Given the description of an element on the screen output the (x, y) to click on. 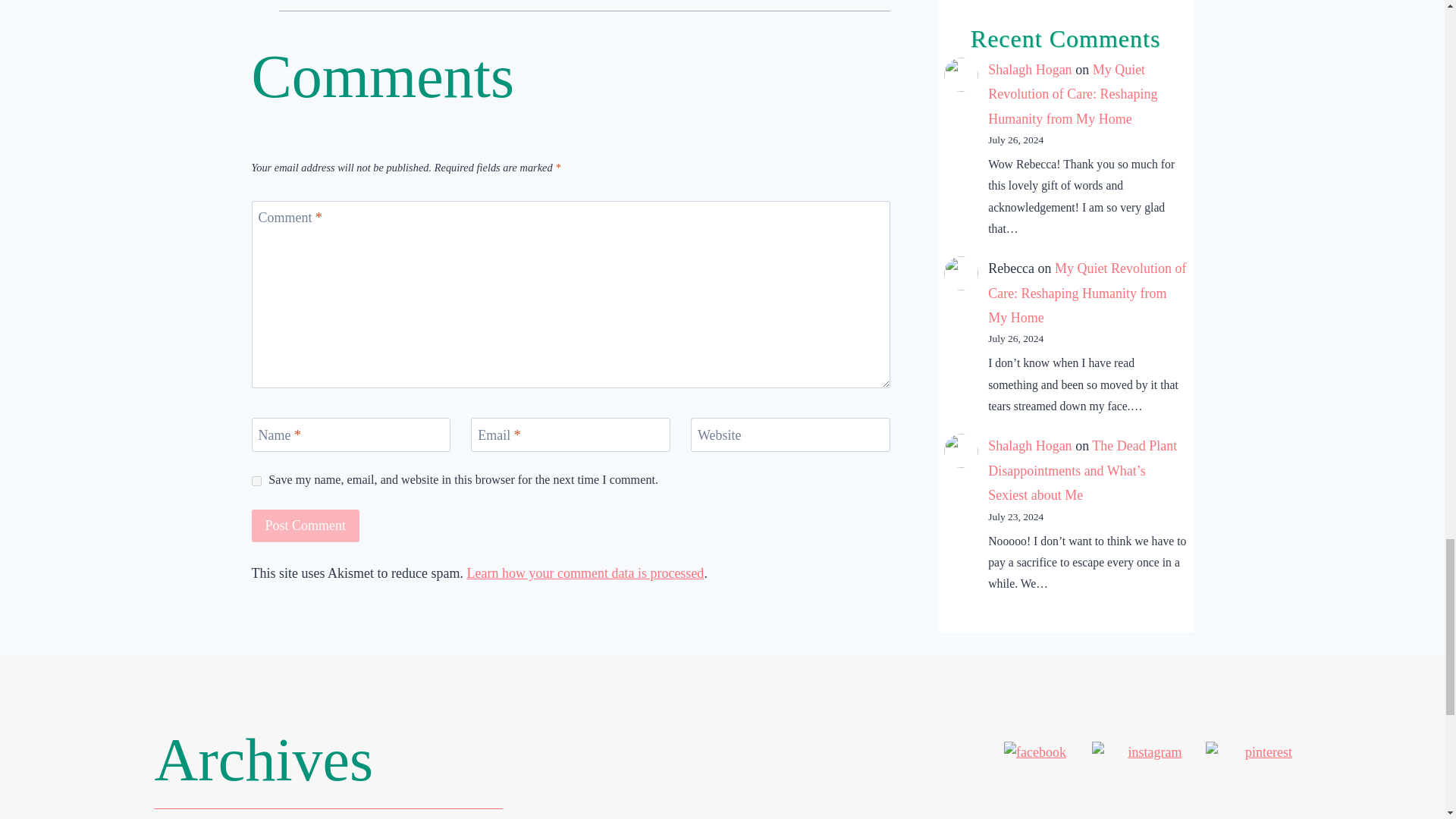
Post Comment (305, 525)
yes (256, 480)
